Given the description of an element on the screen output the (x, y) to click on. 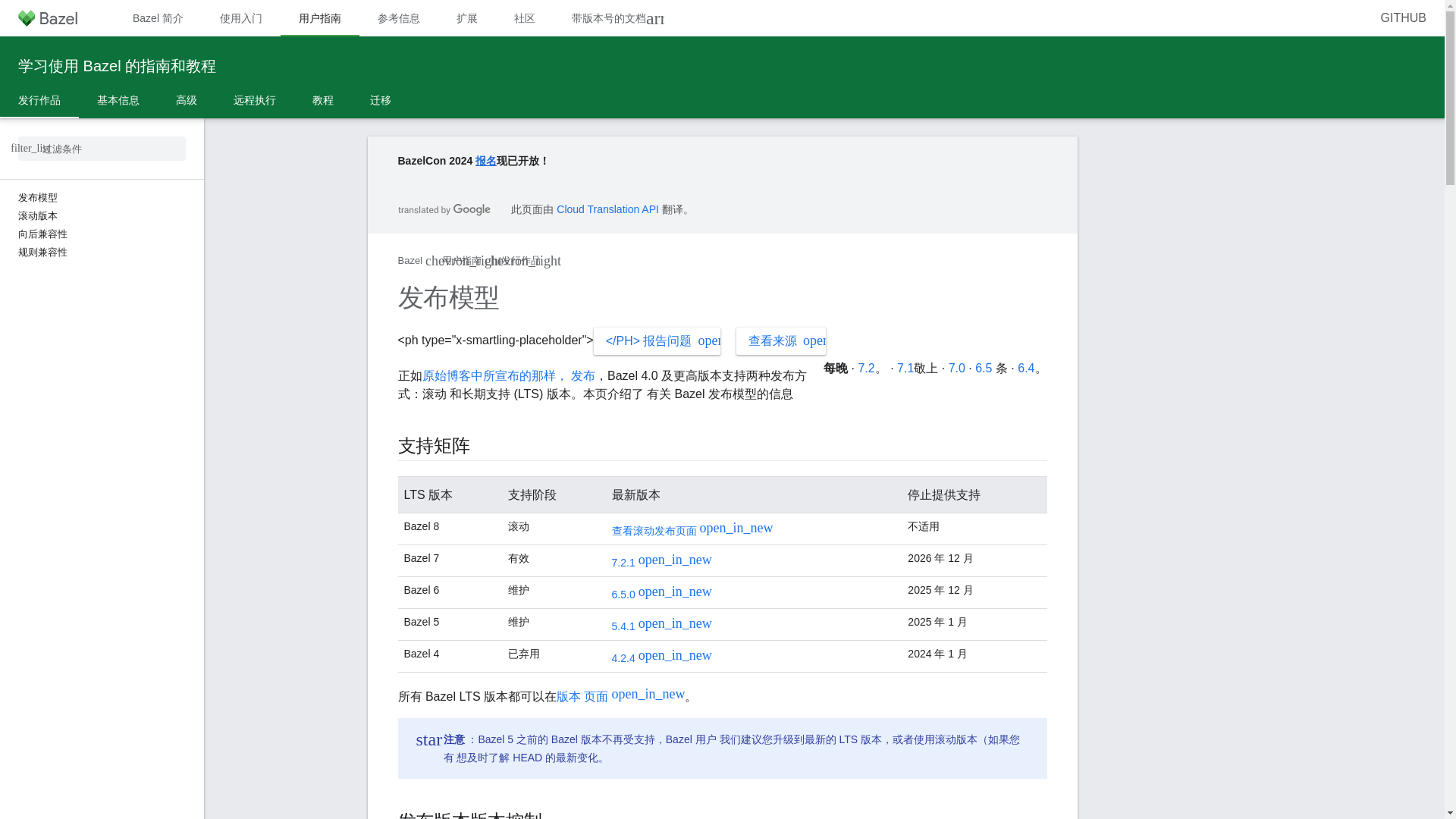
GITHUB (1403, 17)
